Given the description of an element on the screen output the (x, y) to click on. 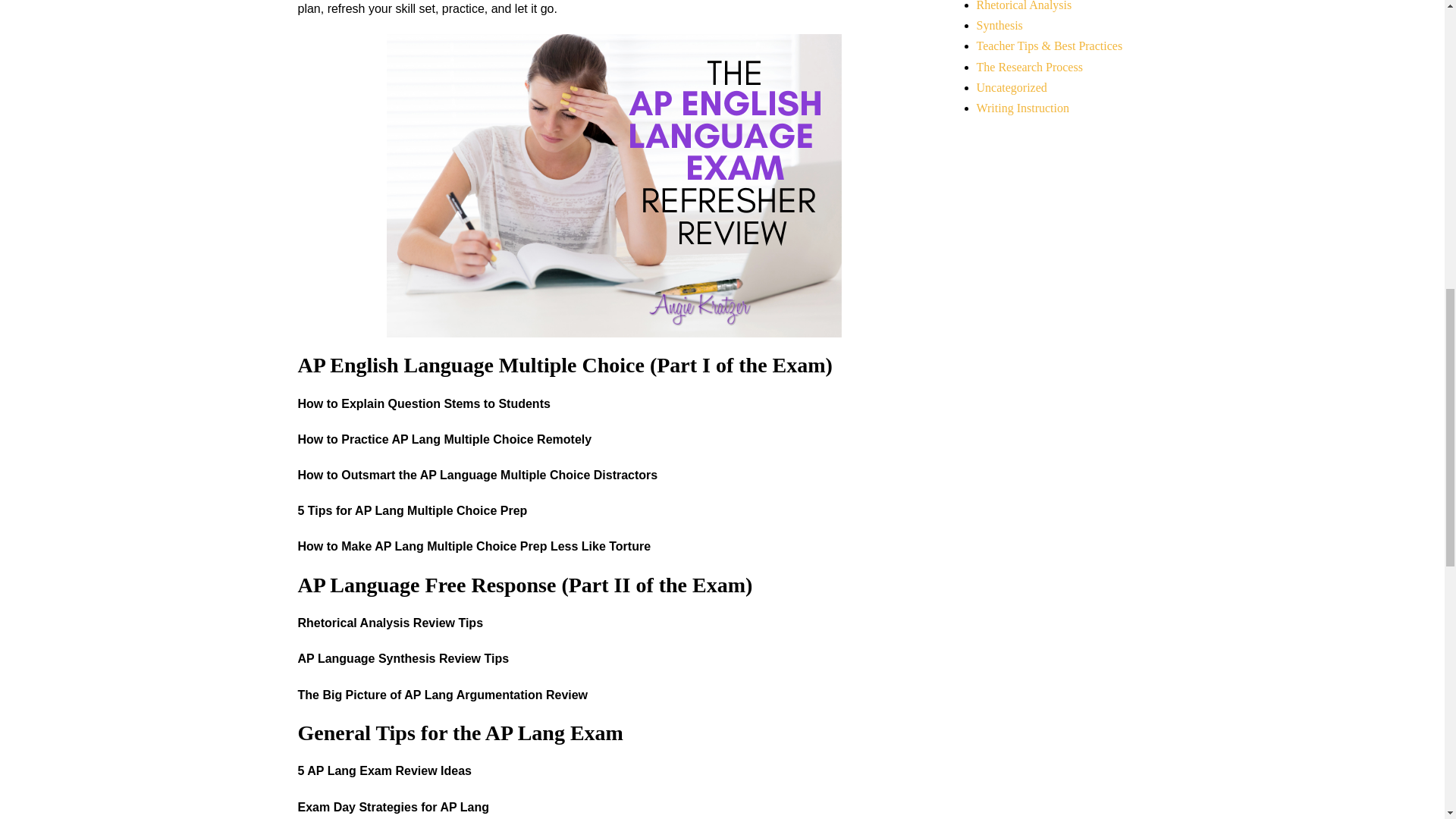
How to Outsmart the AP Language Multiple Choice Distractors (477, 474)
AP Language Synthesis Review Tips (402, 658)
Exam Day Strategies for AP Lang (393, 807)
5 Tips for AP Lang Multiple Choice Prep (412, 510)
The Big Picture of AP Lang Argumentation Review (442, 694)
Rhetorical Analysis Review Tips (390, 622)
How to Make AP Lang Multiple Choice Prep Less Like Torture (473, 545)
5 AP Lang Exam Review Ideas (383, 770)
How to Practice AP Lang Multiple Choice Remotely (444, 439)
How to Explain Question Stems to Students (423, 403)
